Given the description of an element on the screen output the (x, y) to click on. 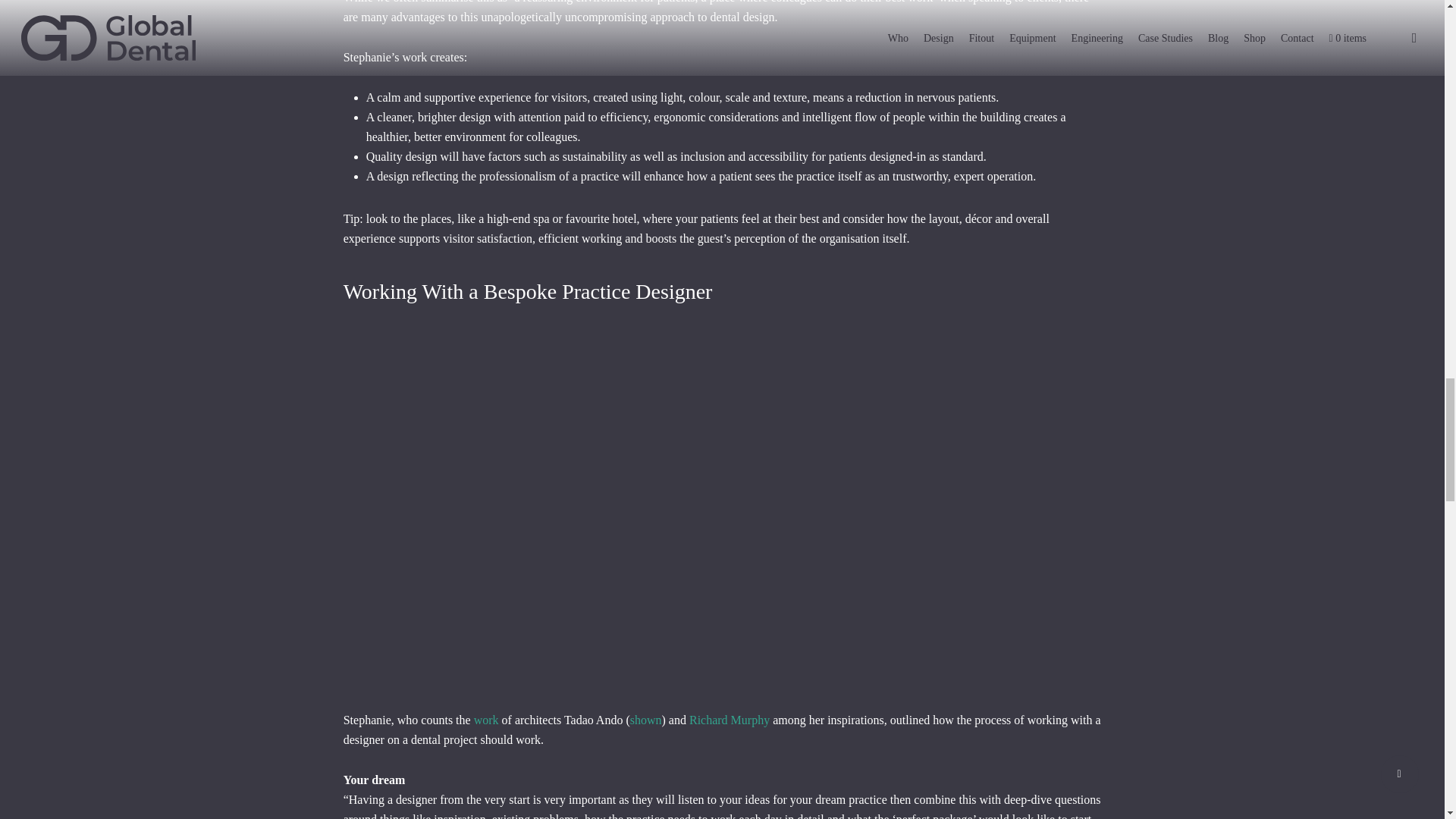
shown (646, 719)
Richard Murphy (729, 719)
work (486, 719)
